Given the description of an element on the screen output the (x, y) to click on. 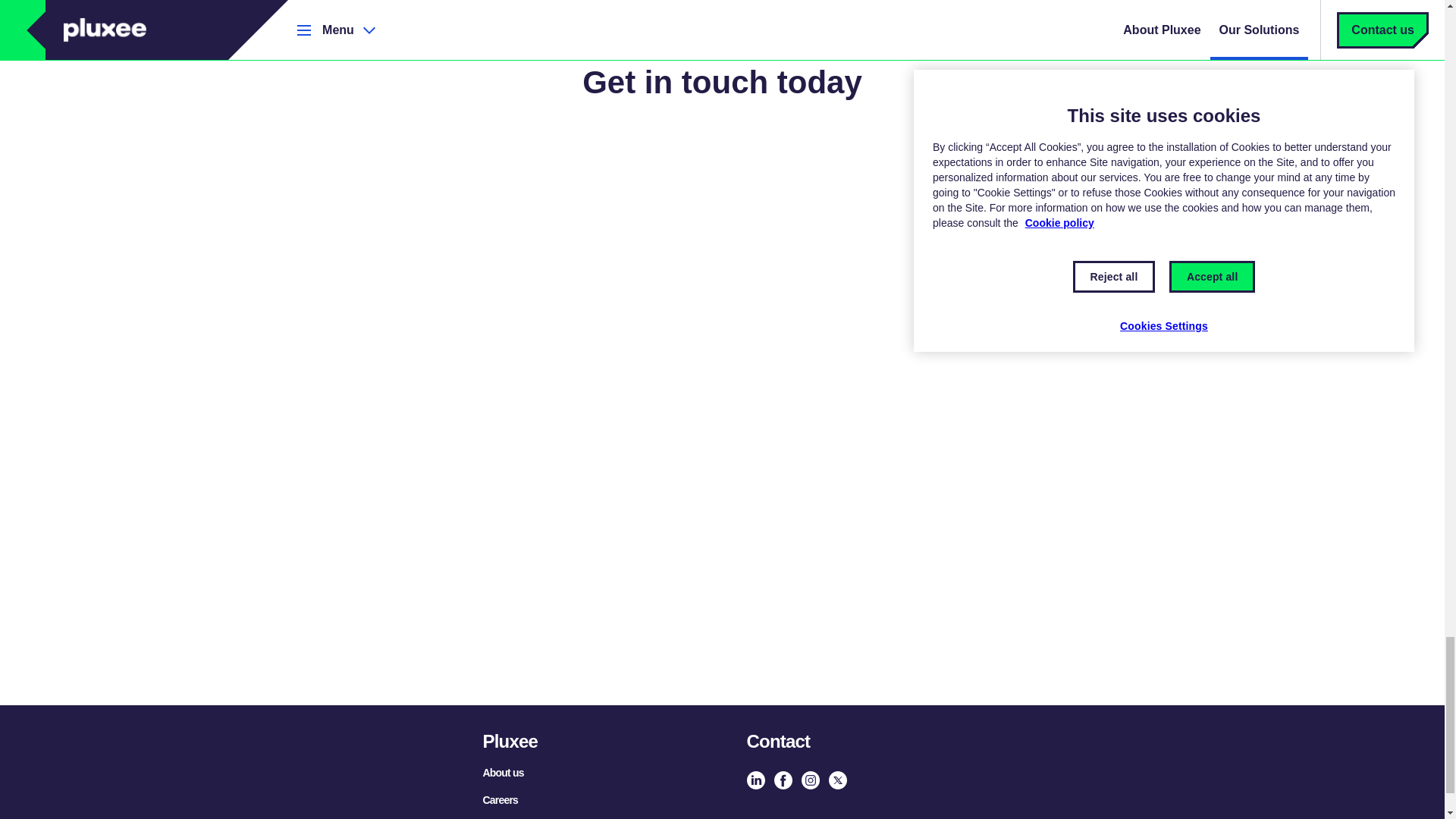
Twitter (836, 780)
About us (501, 772)
Careers (499, 799)
Linkedin (754, 780)
Facebook (782, 780)
Instagram (809, 780)
